Given the description of an element on the screen output the (x, y) to click on. 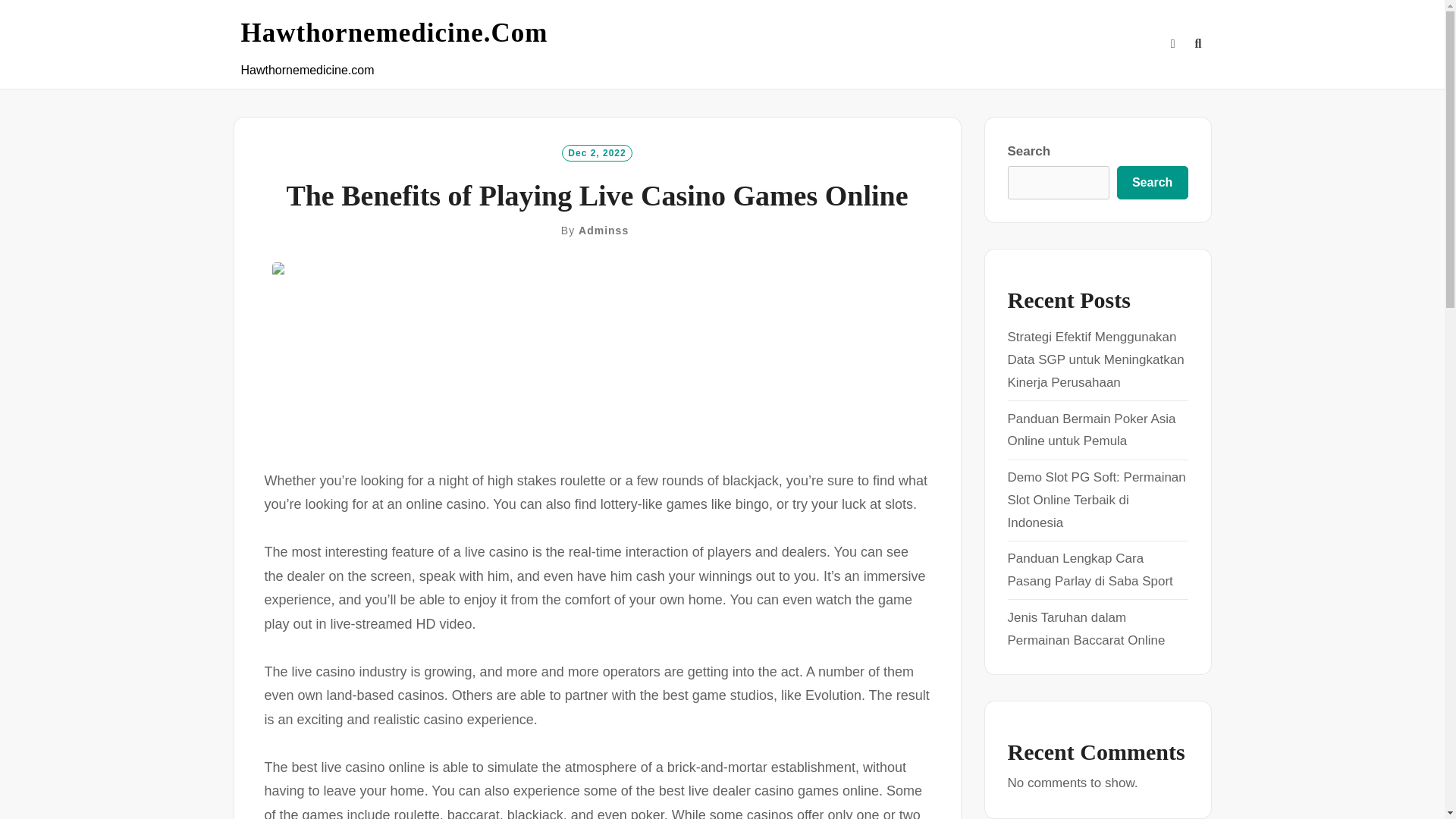
Adminss (603, 230)
Hawthornemedicine.Com (394, 33)
Dec 2, 2022 (596, 152)
Jenis Taruhan dalam Permainan Baccarat Online (1085, 628)
Panduan Bermain Poker Asia Online untuk Pemula (1090, 429)
Search (1152, 182)
Panduan Lengkap Cara Pasang Parlay di Saba Sport (1089, 569)
